Given the description of an element on the screen output the (x, y) to click on. 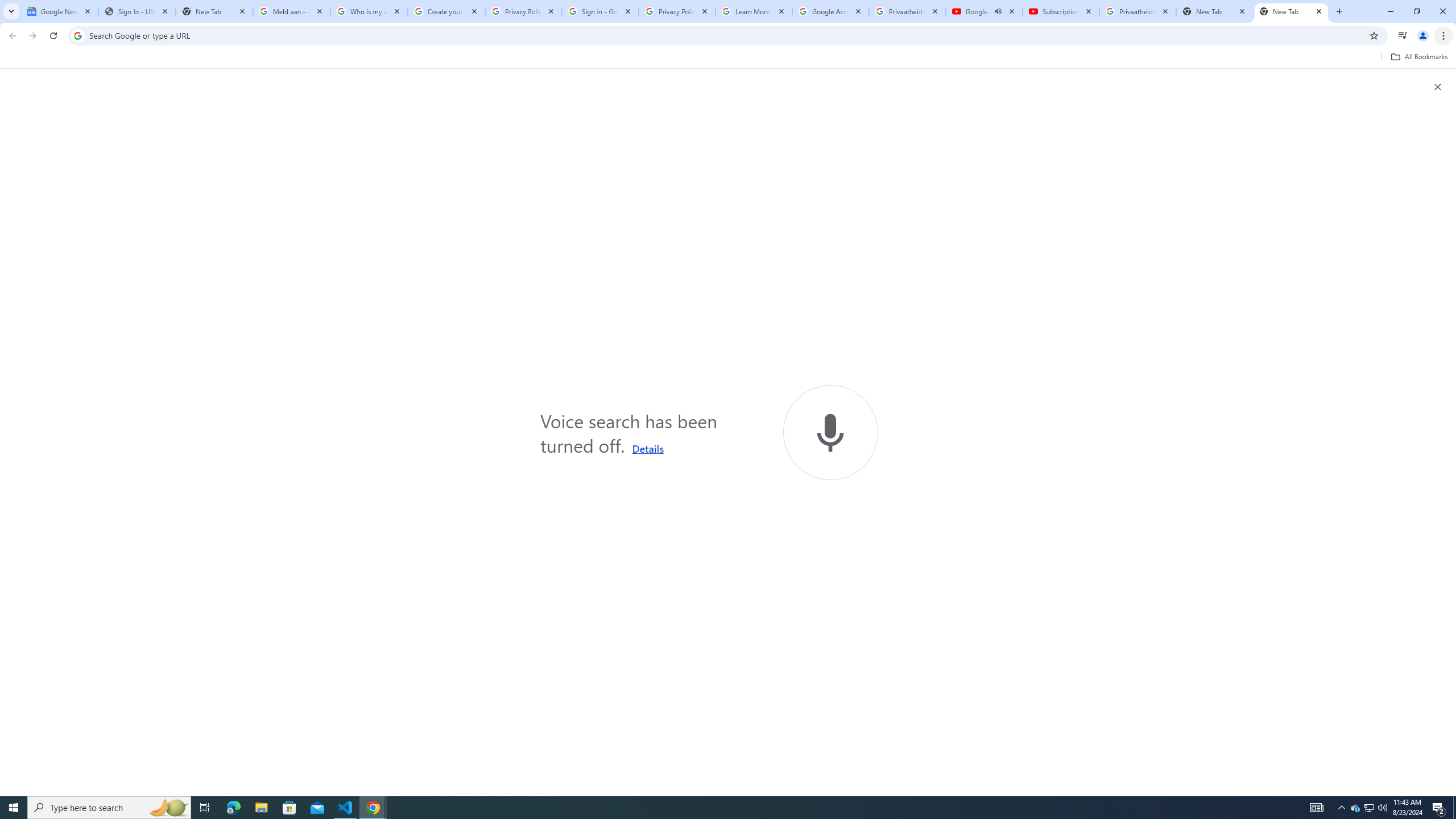
Google - YouTube - Audio playing (983, 11)
Subscriptions - YouTube (1061, 11)
Mute tab (997, 10)
Sign In - USA TODAY (136, 11)
